Given the description of an element on the screen output the (x, y) to click on. 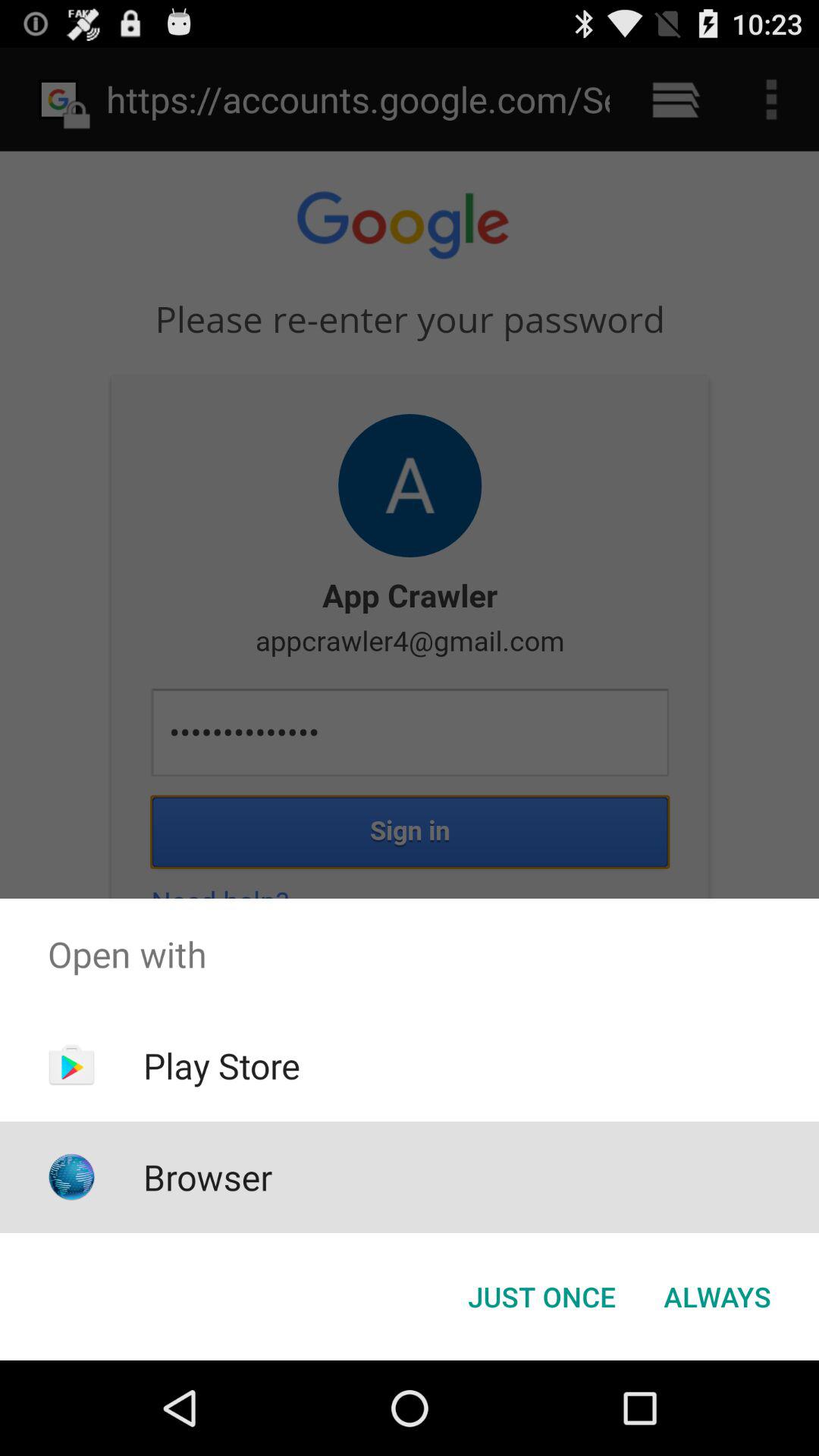
launch app below the open with app (541, 1296)
